Given the description of an element on the screen output the (x, y) to click on. 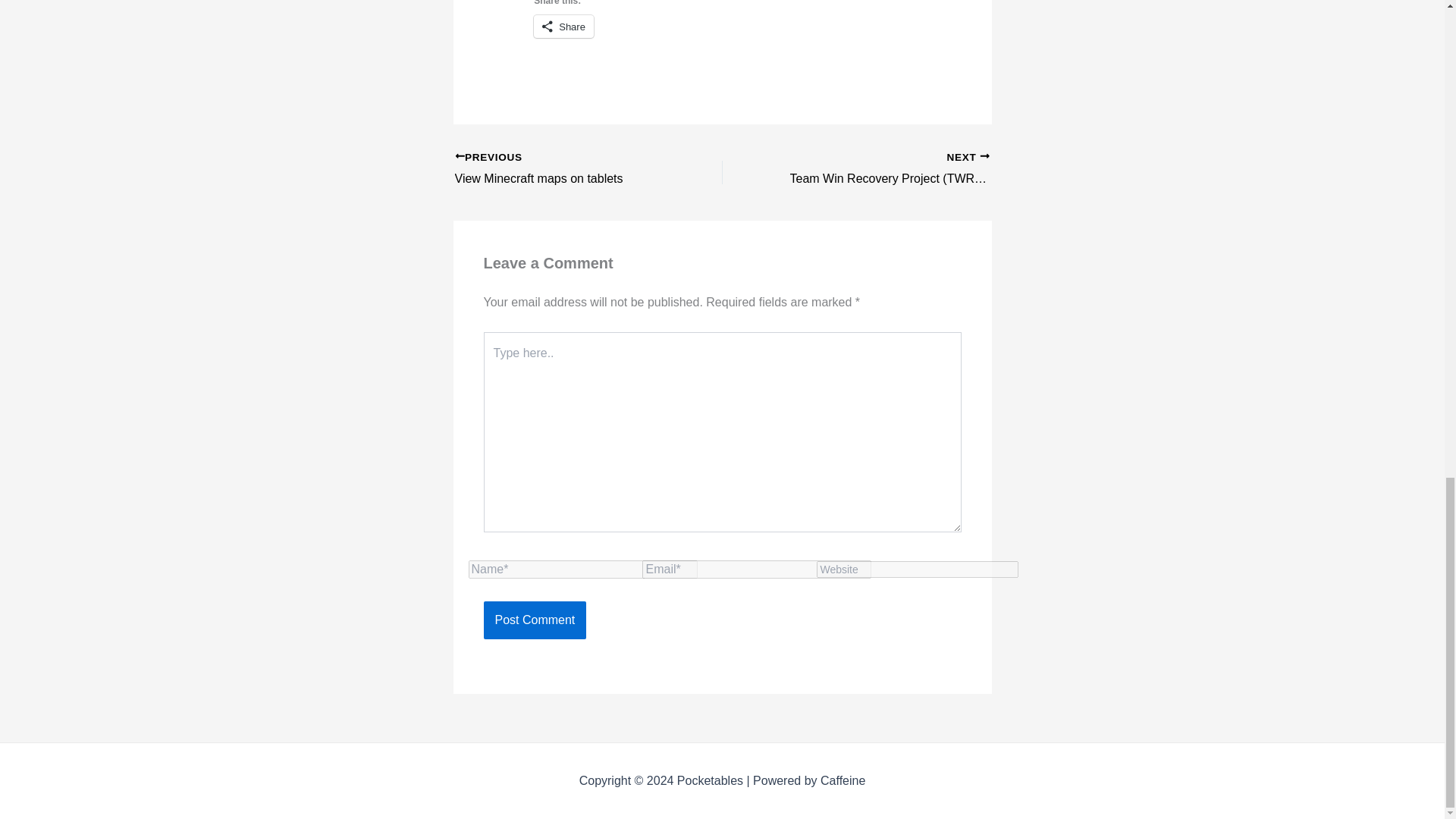
View Minecraft maps on tablets (561, 169)
Post Comment (534, 620)
